Given the description of an element on the screen output the (x, y) to click on. 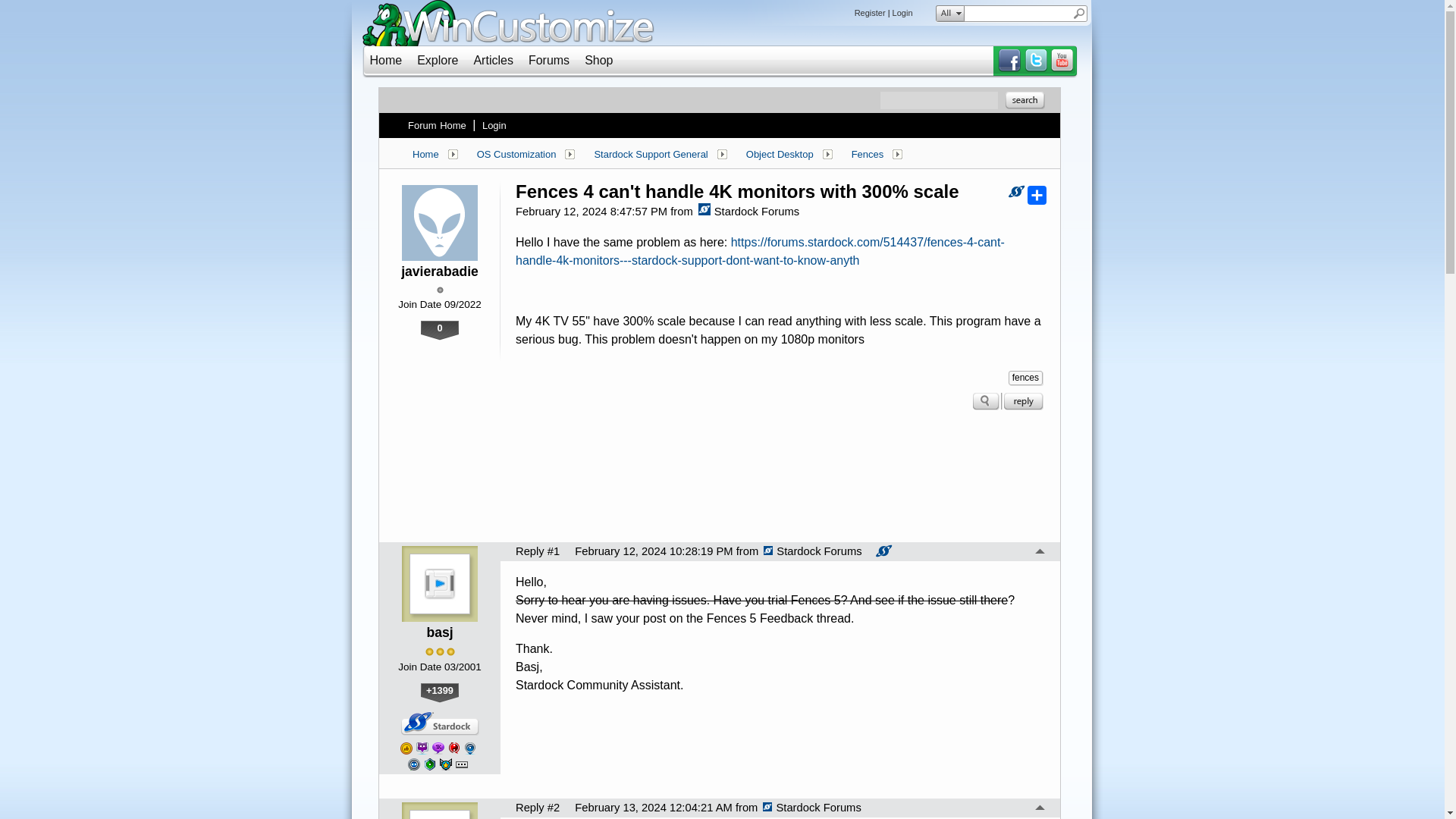
query (1018, 14)
all (946, 13)
